Given the description of an element on the screen output the (x, y) to click on. 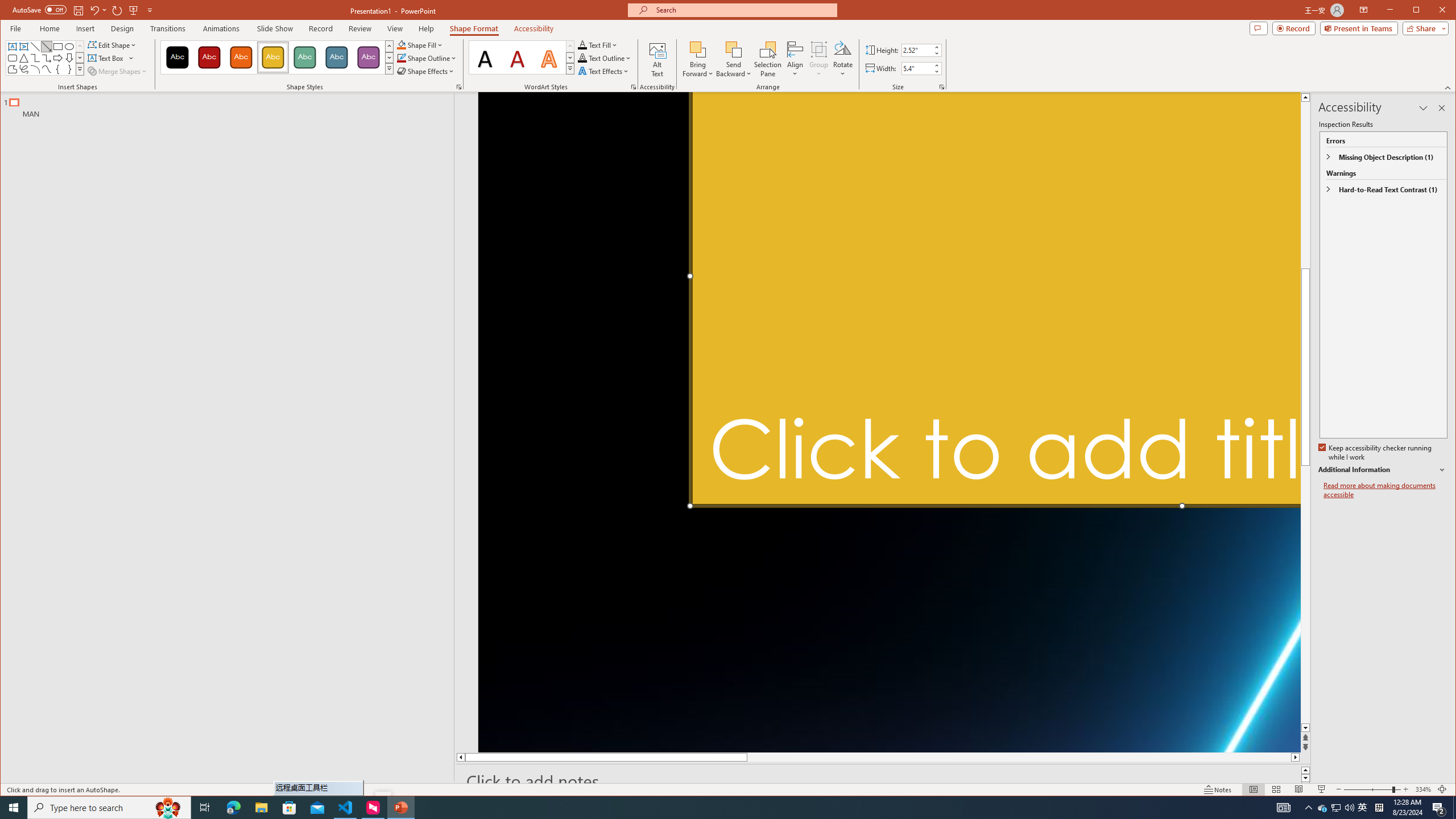
AutomationID: TextStylesGallery (521, 57)
